Given the description of an element on the screen output the (x, y) to click on. 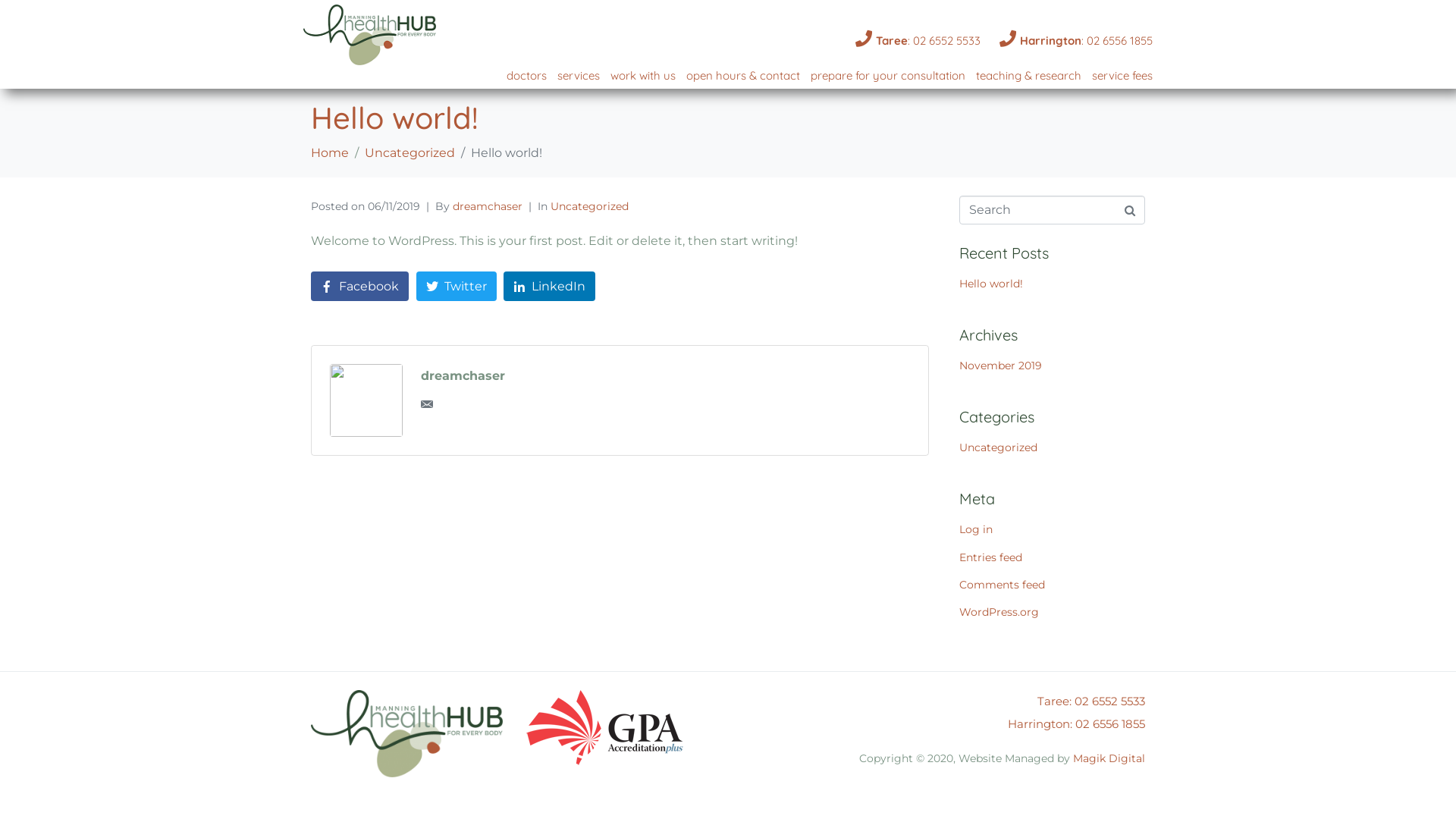
work with us Element type: text (642, 76)
Facebook Element type: text (359, 286)
service fees Element type: text (1122, 76)
Uncategorized Element type: text (998, 447)
doctors Element type: text (526, 76)
Log in Element type: text (975, 529)
Twitter Element type: text (456, 286)
prepare for your consultation Element type: text (887, 76)
dreamchaser Element type: text (462, 376)
services Element type: text (578, 76)
dreamchaser Element type: text (487, 206)
Home Element type: text (329, 152)
Taree: 02 6552 5533 Element type: text (915, 40)
Hello world! Element type: text (990, 283)
Harrington: 02 6556 1855 Element type: text (1076, 723)
November 2019 Element type: text (1000, 365)
teaching & research Element type: text (1028, 76)
Entries feed Element type: text (990, 557)
WordPress.org Element type: text (998, 611)
Uncategorized Element type: text (409, 152)
Harrington: 02 6556 1855 Element type: text (1073, 40)
LinkedIn Element type: text (549, 286)
Comments feed Element type: text (1001, 584)
Taree: 02 6552 5533 Element type: text (1091, 700)
open hours & contact Element type: text (743, 76)
Magik Digital Element type: text (1109, 758)
Uncategorized Element type: text (589, 206)
